Given the description of an element on the screen output the (x, y) to click on. 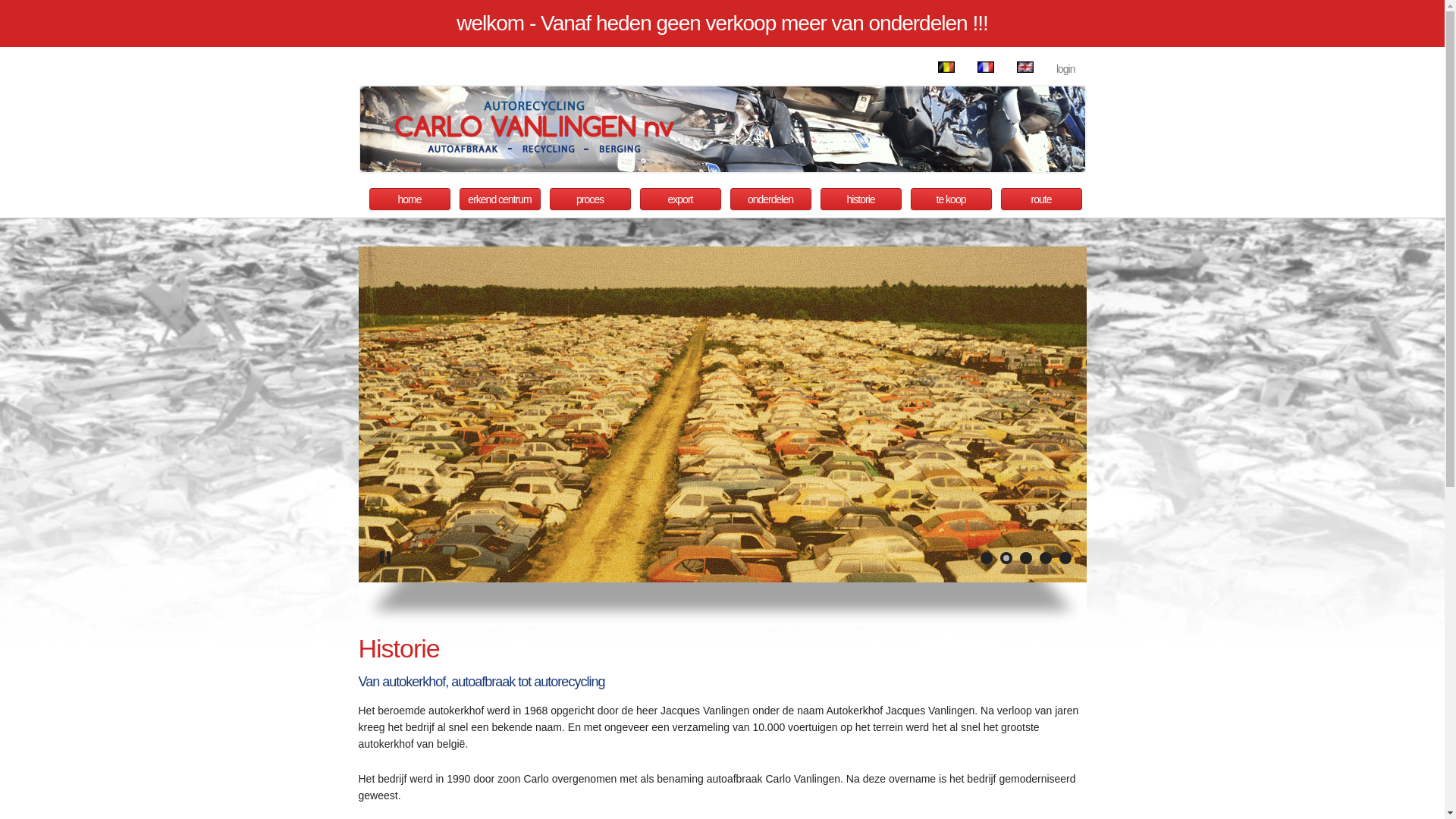
onderdelen Element type: text (769, 199)
home Element type: text (408, 199)
export Element type: text (680, 199)
login Element type: text (1065, 68)
te koop Element type: text (950, 199)
historie Element type: text (860, 199)
proces Element type: text (589, 199)
route Element type: text (1041, 199)
erkend centrum Element type: text (499, 199)
